Given the description of an element on the screen output the (x, y) to click on. 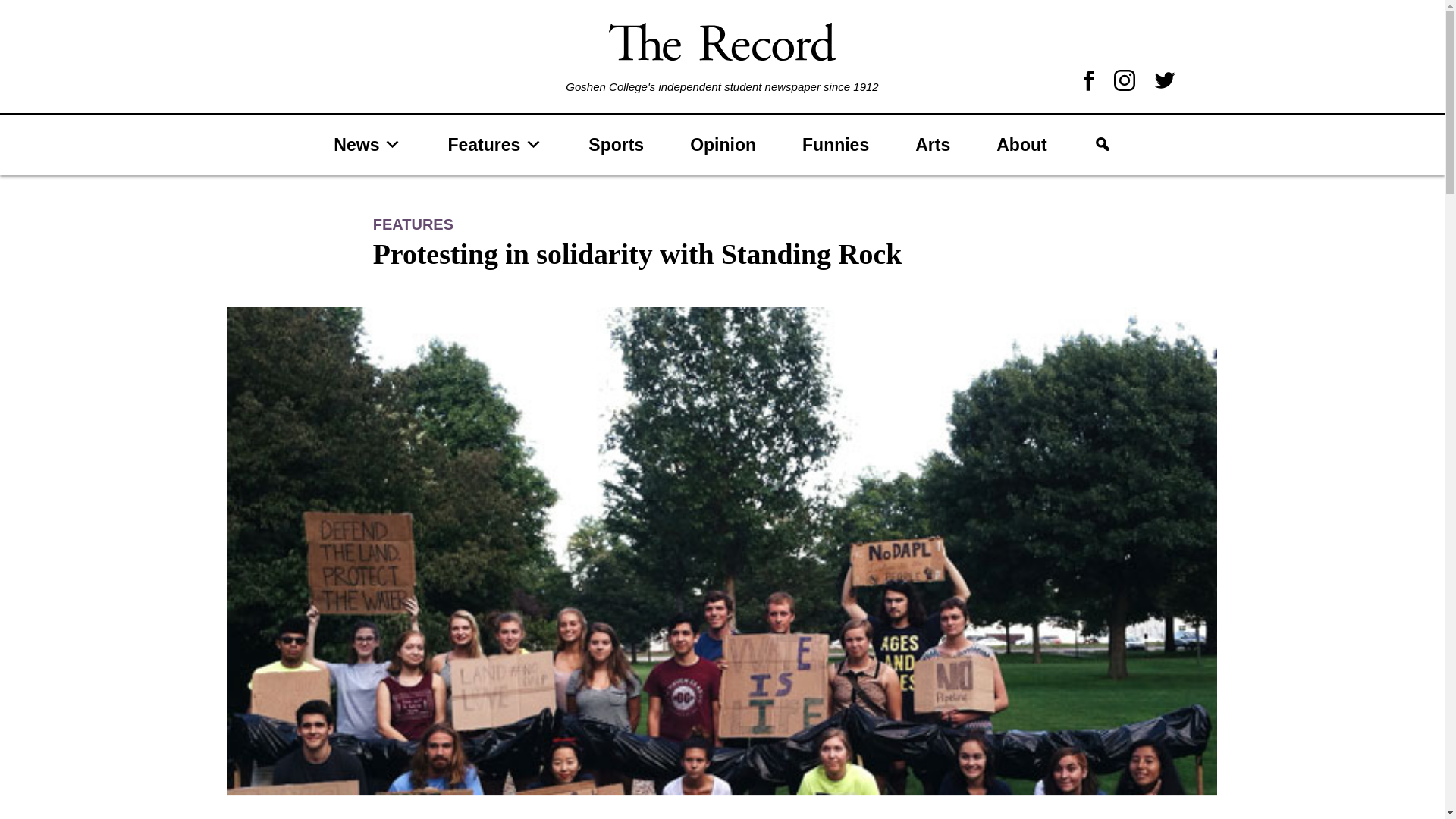
News (367, 144)
Sports (616, 144)
Opinion (722, 144)
Arts (932, 144)
Funnies (834, 144)
Features (494, 144)
About (1021, 144)
